Given the description of an element on the screen output the (x, y) to click on. 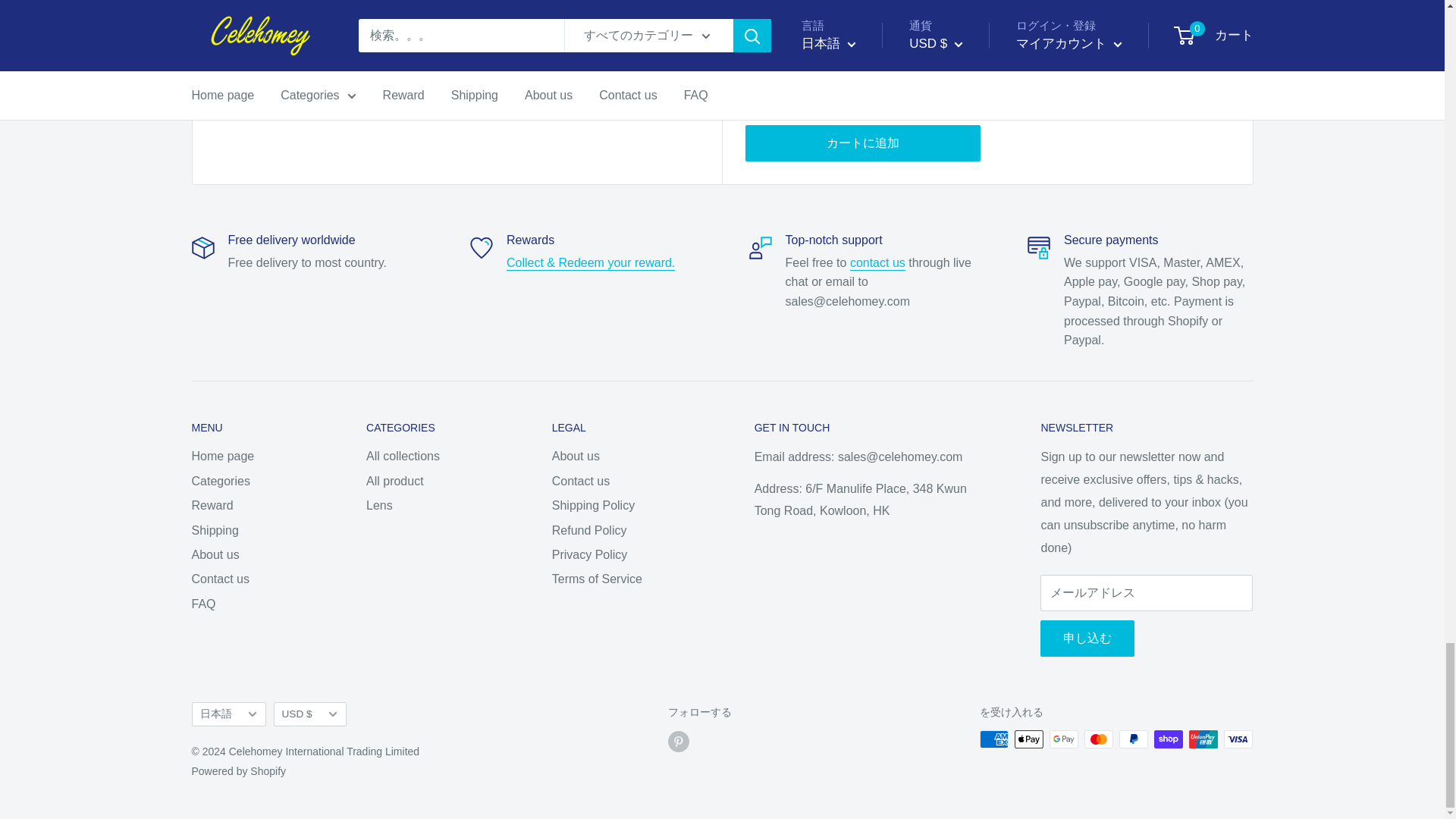
for Nikon Z mount (933, 1)
for Sony E mount (805, 1)
for Canon RF mount (1067, 1)
1 (838, 87)
